Given the description of an element on the screen output the (x, y) to click on. 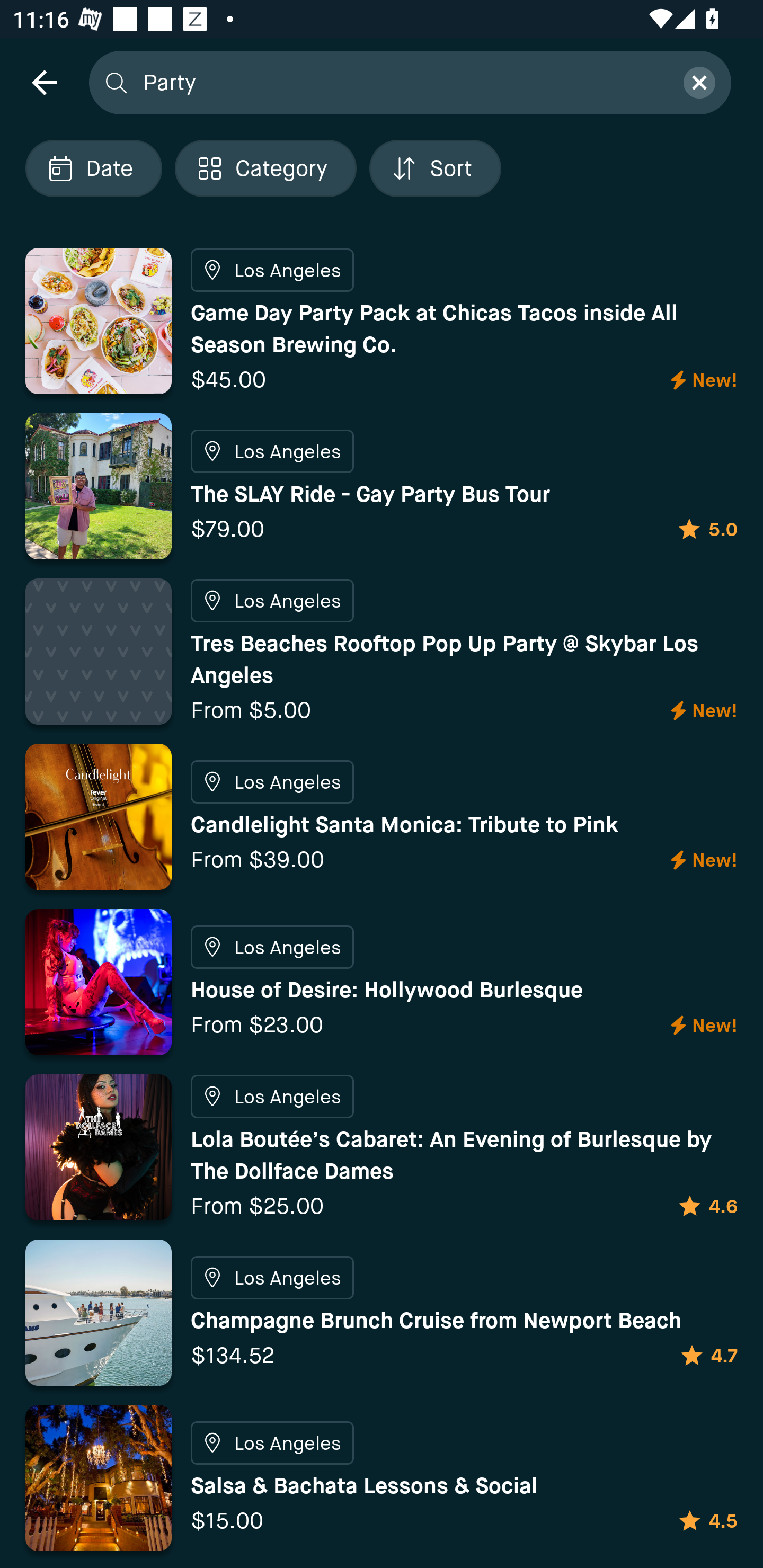
navigation icon (44, 81)
Party (402, 81)
Localized description Date (93, 168)
Localized description Category (265, 168)
Localized description Sort (435, 168)
